Given the description of an element on the screen output the (x, y) to click on. 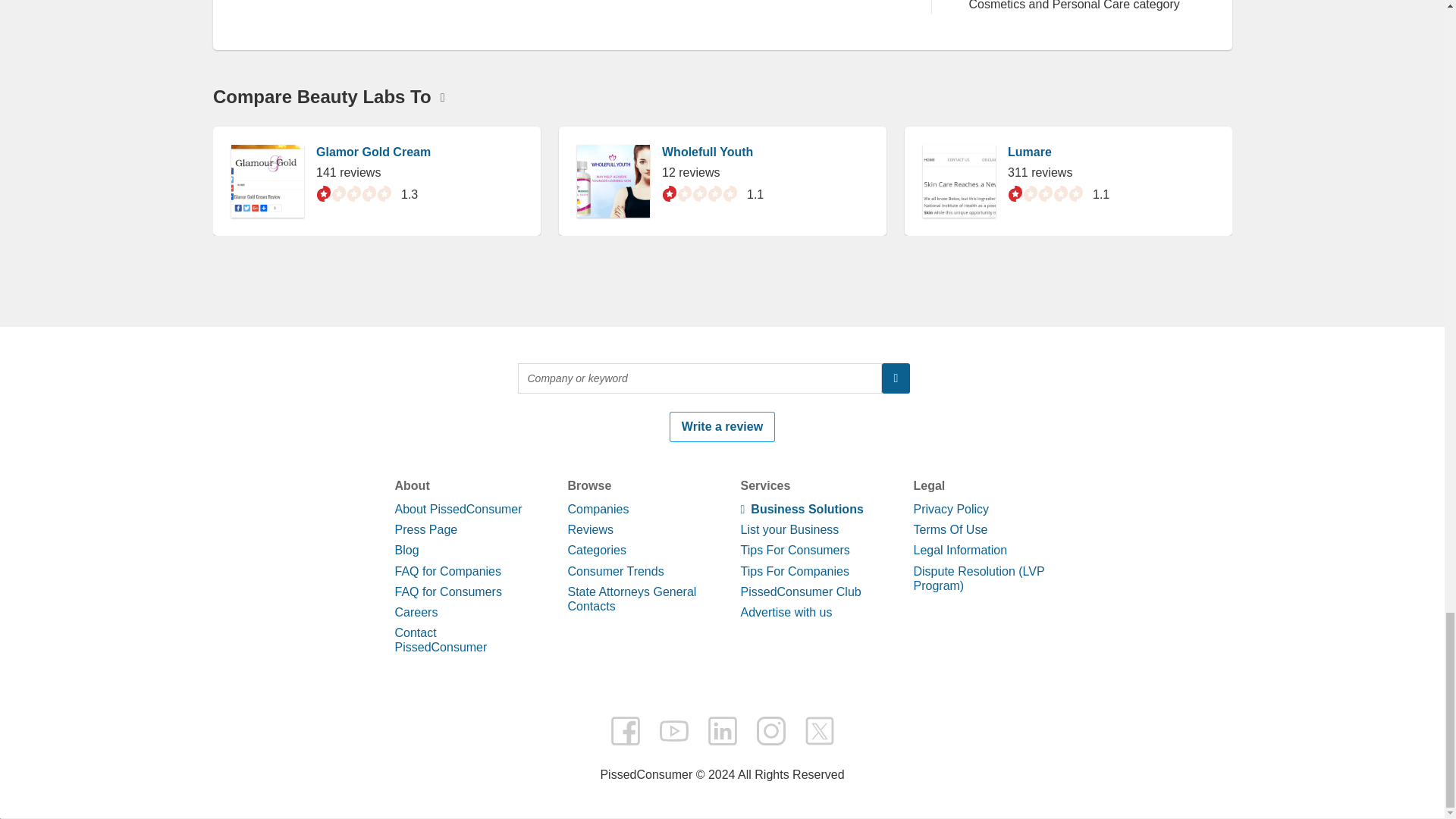
Wholefull Youth (706, 748)
Glamor Gold Cream (372, 748)
Lumare (1029, 748)
